Given the description of an element on the screen output the (x, y) to click on. 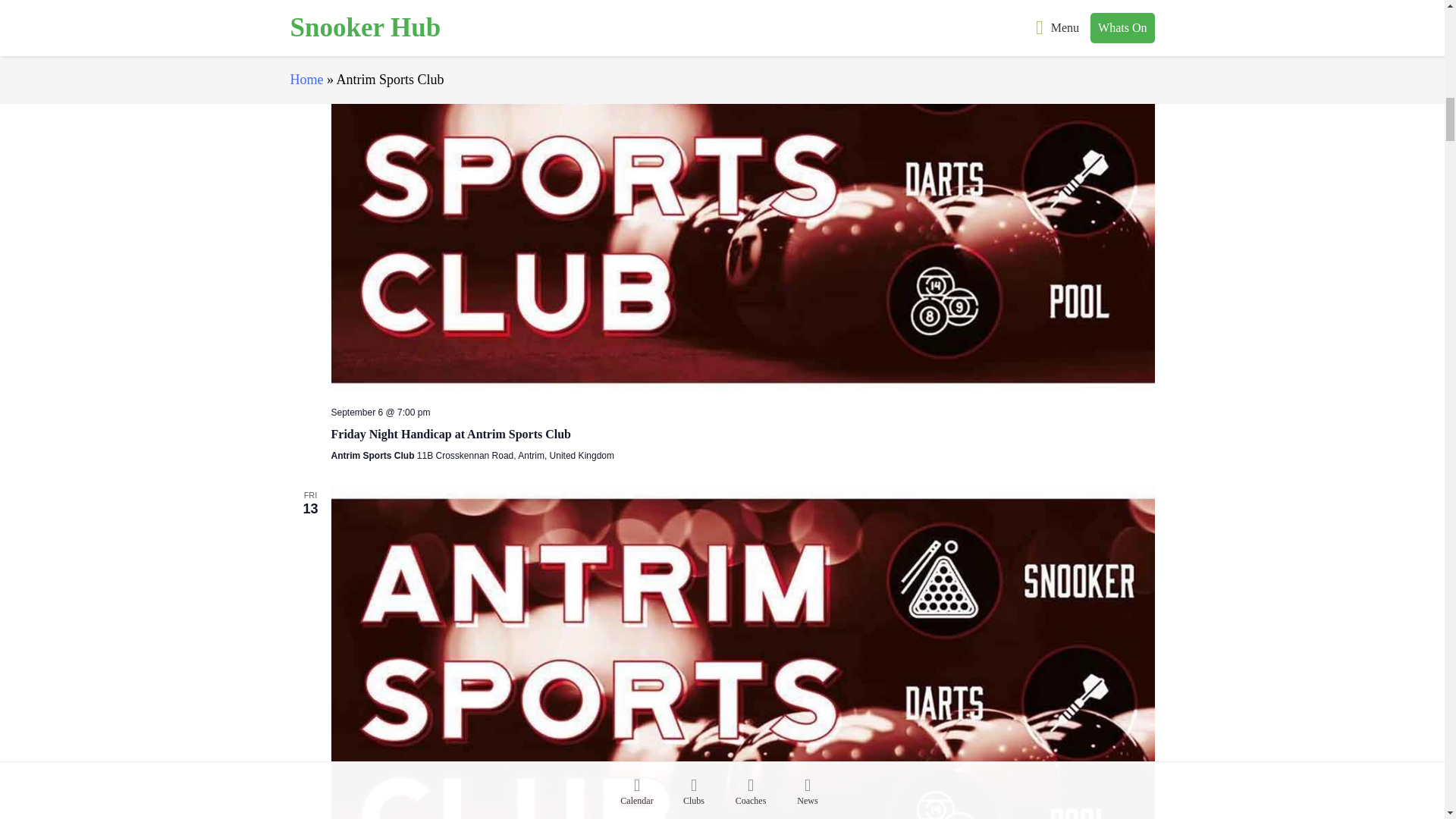
Friday Night Handicap at Antrim Sports Club (450, 434)
Friday Night Handicap at Antrim Sports Club (450, 434)
